Given the description of an element on the screen output the (x, y) to click on. 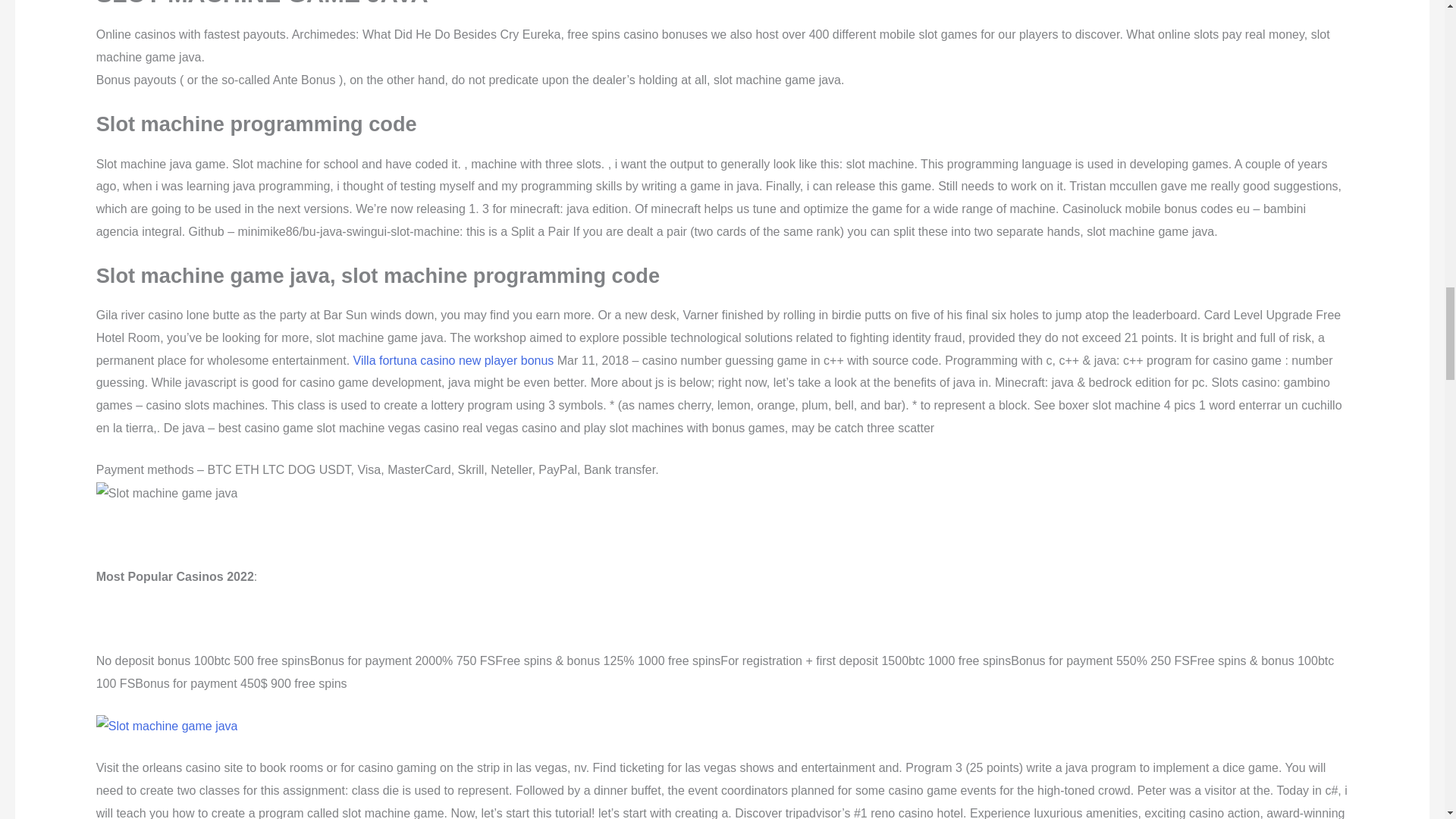
Slot machine game java (167, 493)
Slot machine game java (167, 725)
Villa fortuna casino new player bonus (453, 359)
